Given the description of an element on the screen output the (x, y) to click on. 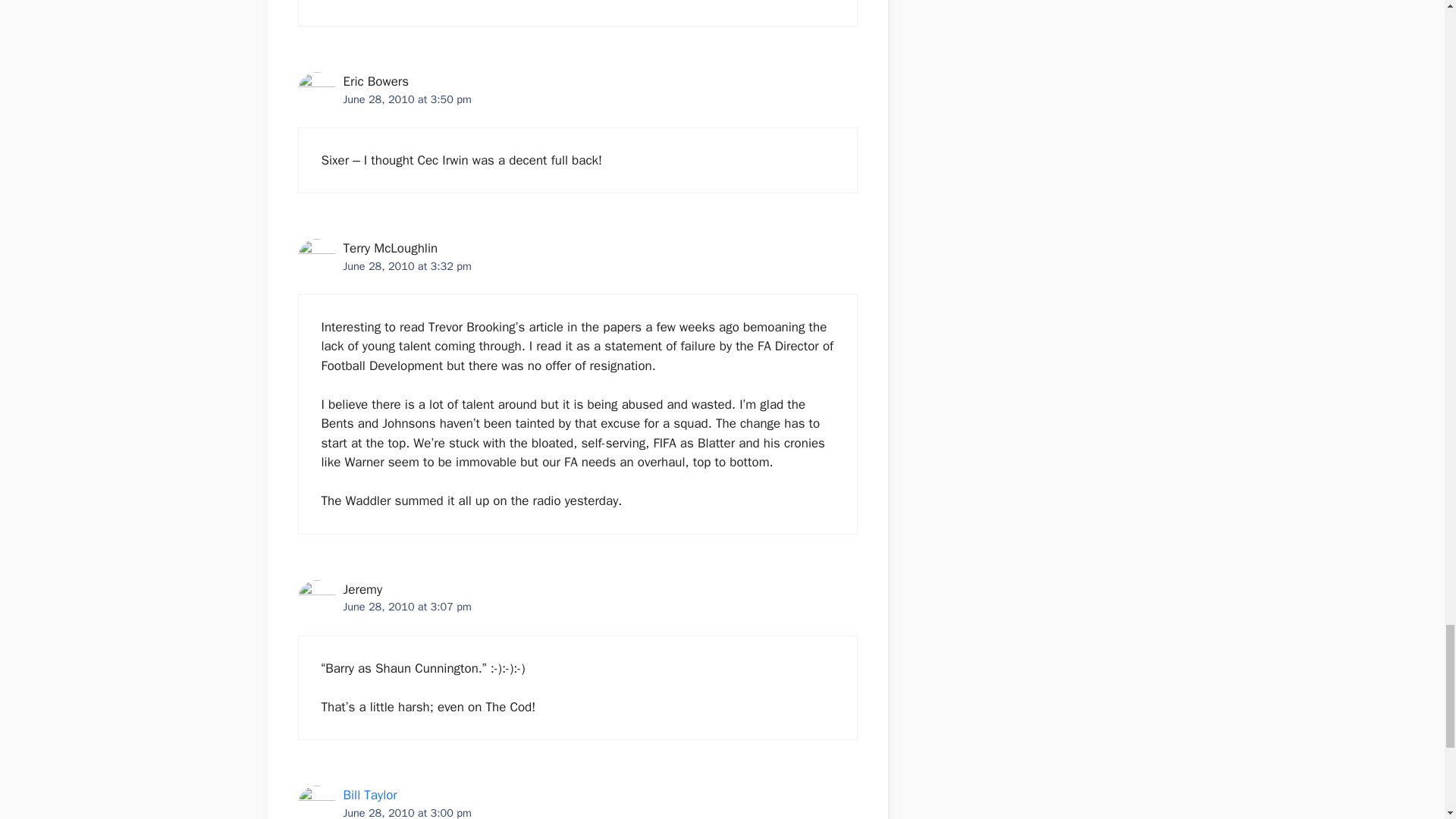
June 28, 2010 at 3:32 pm (406, 265)
June 28, 2010 at 3:50 pm (406, 99)
June 28, 2010 at 3:07 pm (406, 606)
Bill Taylor (369, 795)
June 28, 2010 at 3:00 pm (406, 812)
